Given the description of an element on the screen output the (x, y) to click on. 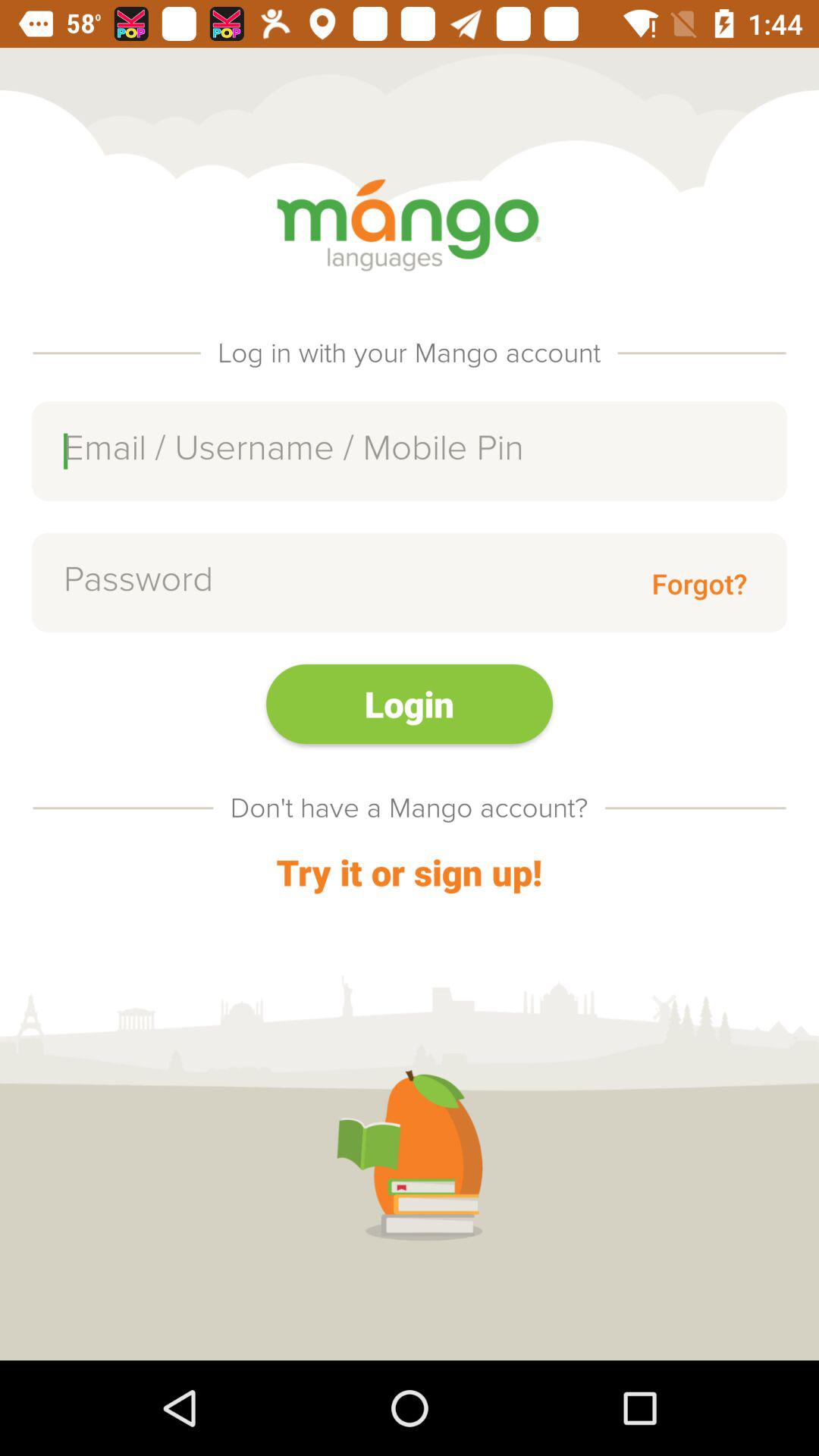
identity login (409, 451)
